Given the description of an element on the screen output the (x, y) to click on. 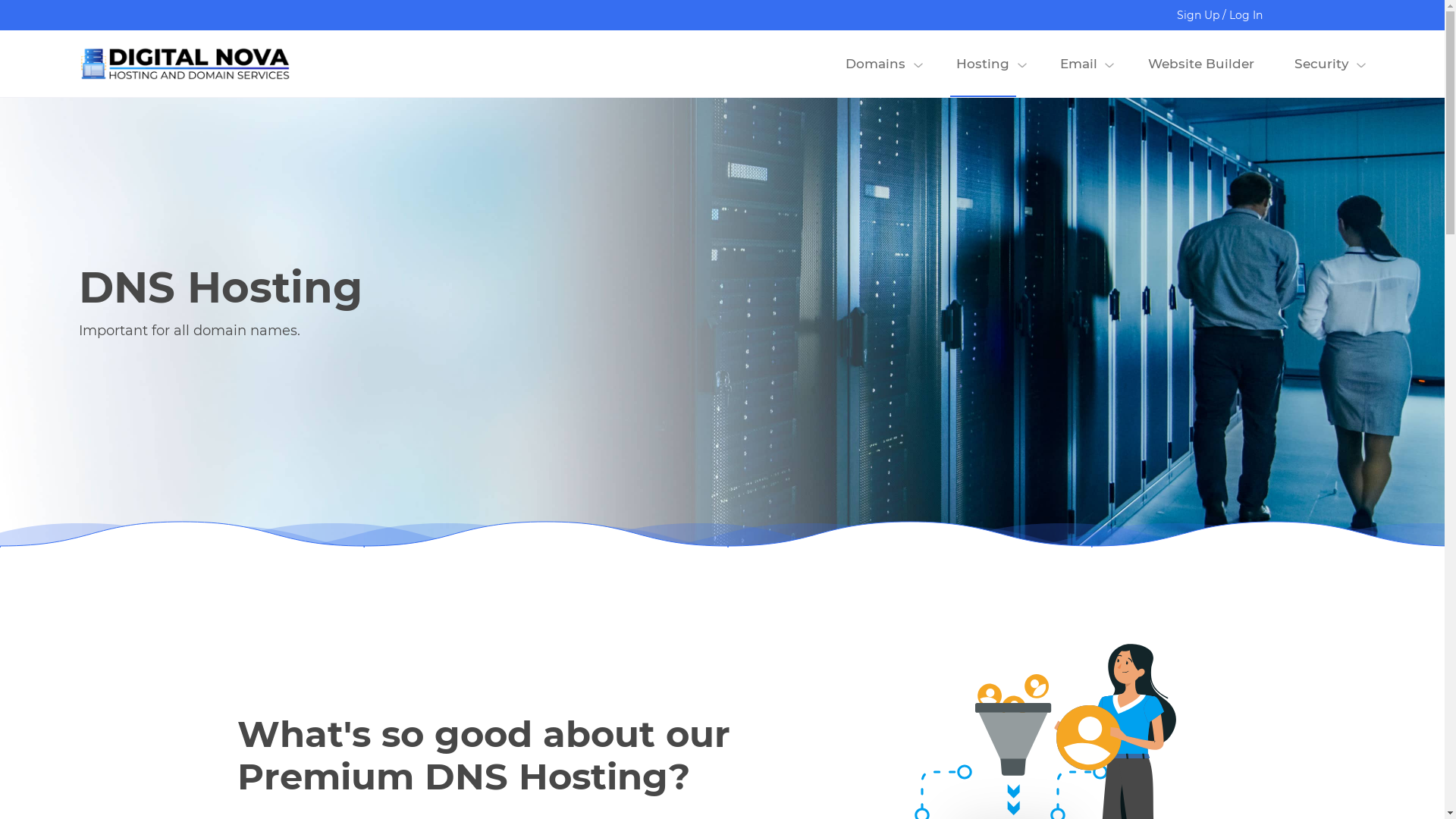
Email Element type: text (1079, 63)
Domains Element type: text (875, 63)
Website Builder Element type: text (1200, 63)
Hosting Element type: text (983, 63)
Security Element type: text (1321, 63)
